Given the description of an element on the screen output the (x, y) to click on. 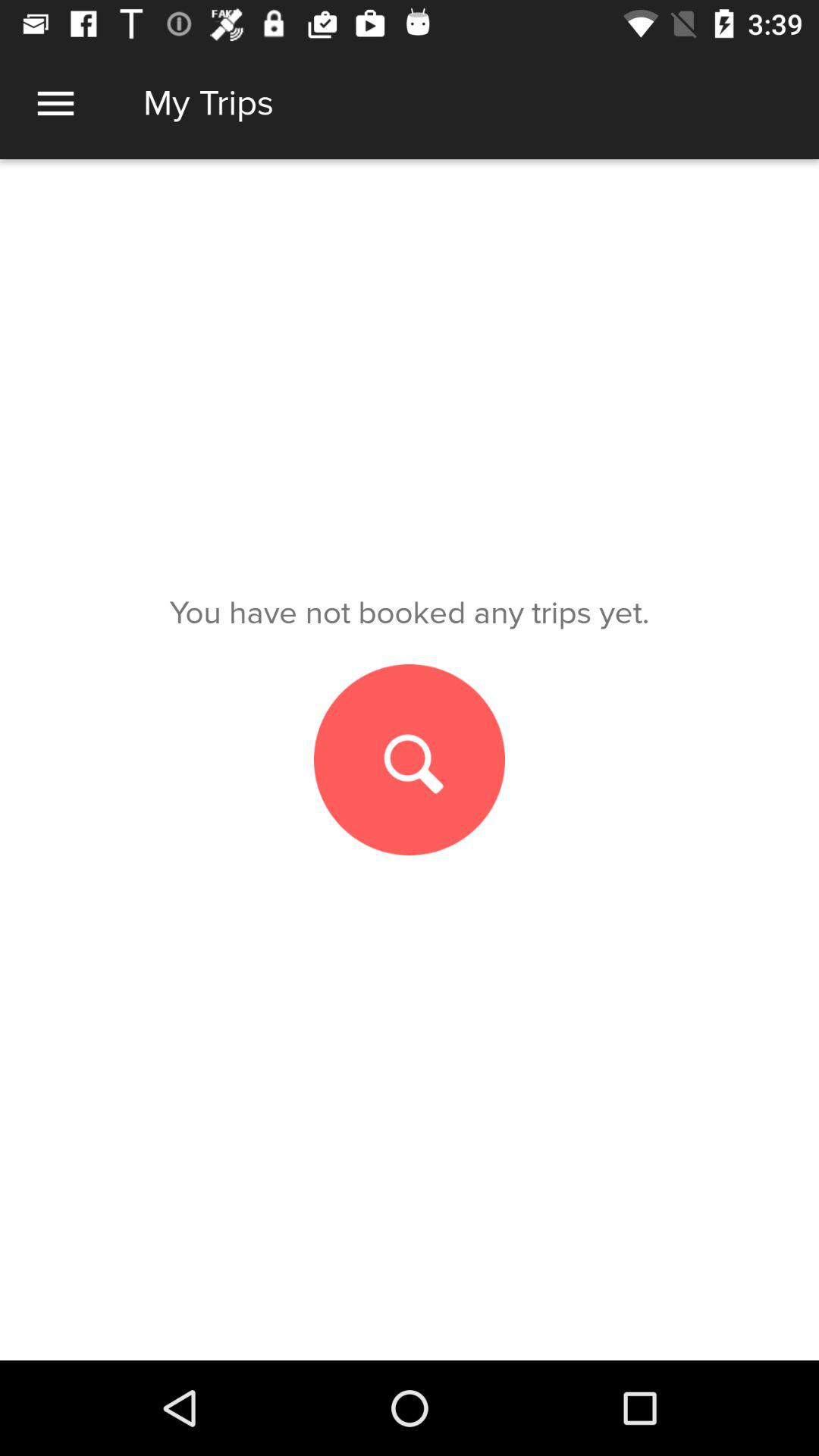
search (409, 759)
